Given the description of an element on the screen output the (x, y) to click on. 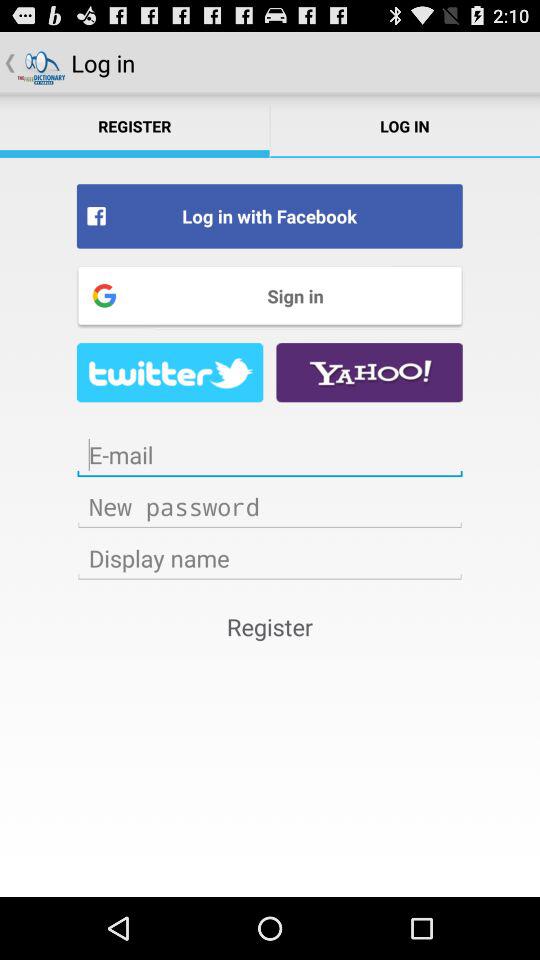
enter the name (269, 558)
